Given the description of an element on the screen output the (x, y) to click on. 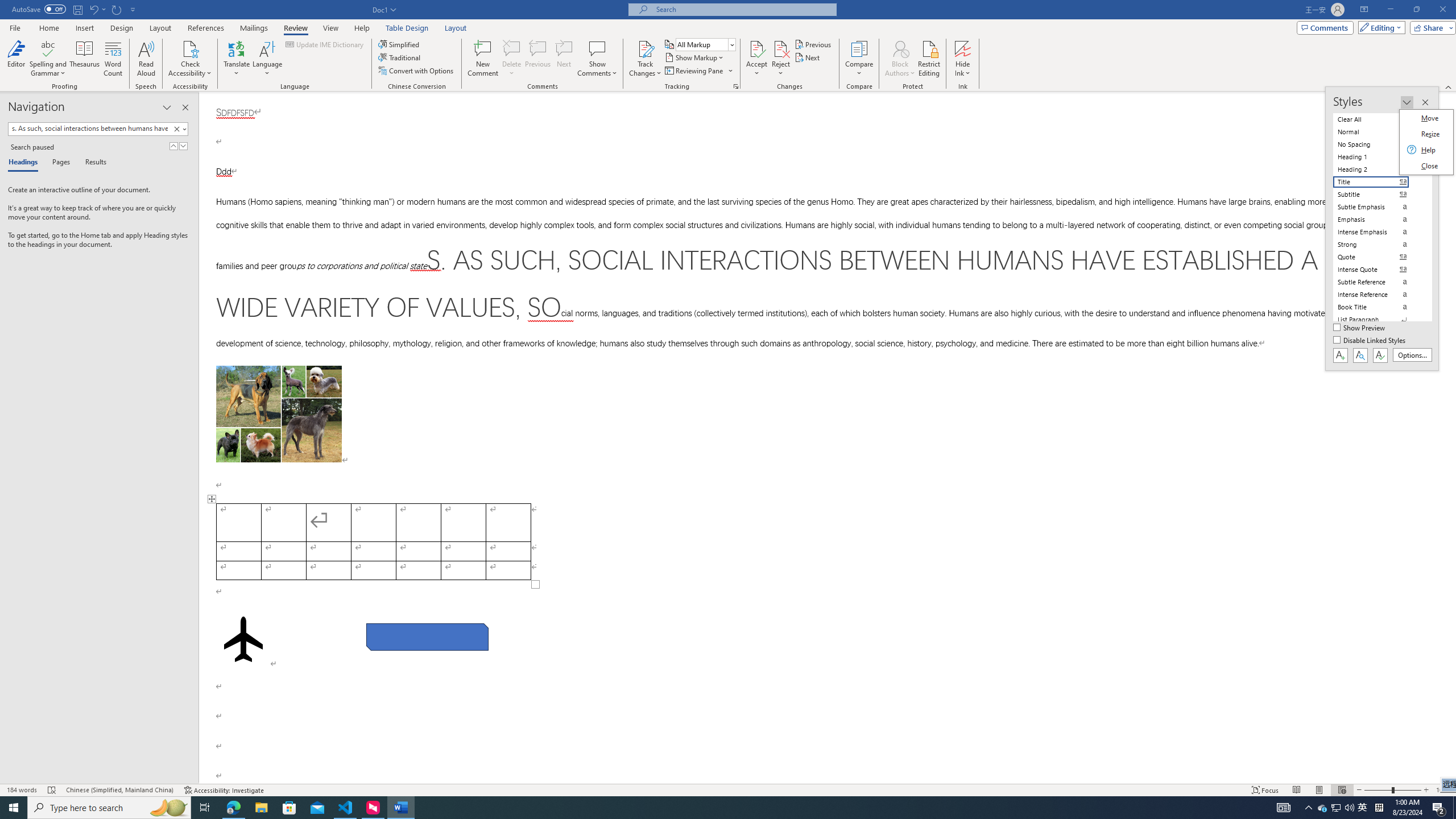
Show Comments (597, 58)
Simplified (400, 44)
Class: NetUIButton (1380, 355)
Airplane with solid fill (242, 638)
Word - 1 running window (400, 807)
Delete (511, 58)
Display for Review (705, 44)
Subtle Reference (1377, 282)
Word Count 184 words (22, 790)
